Given the description of an element on the screen output the (x, y) to click on. 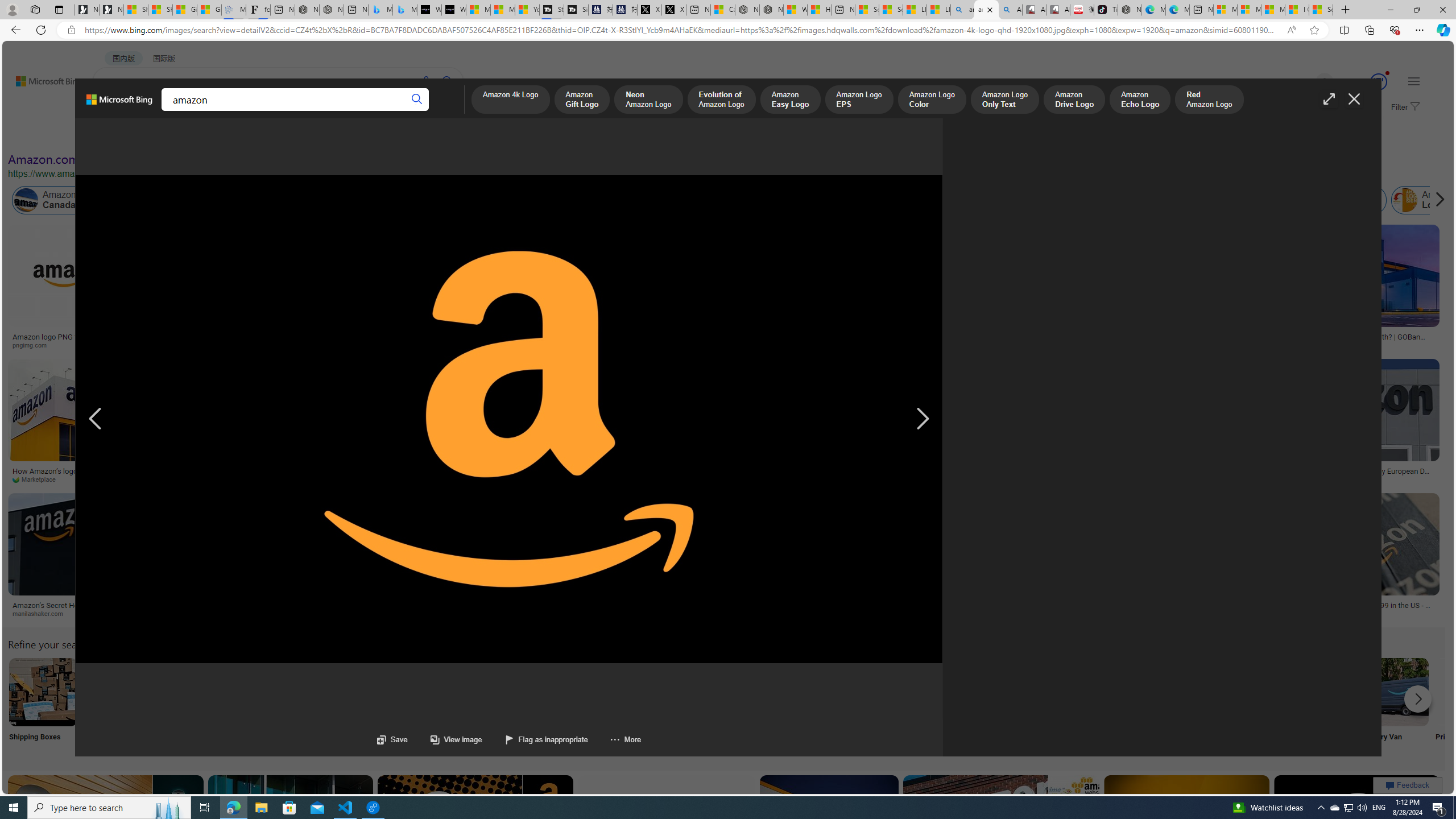
I Gained 20 Pounds of Muscle in 30 Days! | Watch (1296, 9)
Filter (1403, 107)
Amazon Animals (426, 199)
Full screen (1328, 99)
Nordace - #1 Japanese Best-Seller - Siena Smart Backpack (330, 9)
Best Amazon Cyber Monday deals 2019 | PCWorld (910, 474)
Amazon Jobs Near Me Jobs Near Me (342, 706)
Microsoft account | Privacy (1248, 9)
VIDEOS (260, 111)
Image size (127, 135)
X (673, 9)
